Given the description of an element on the screen output the (x, y) to click on. 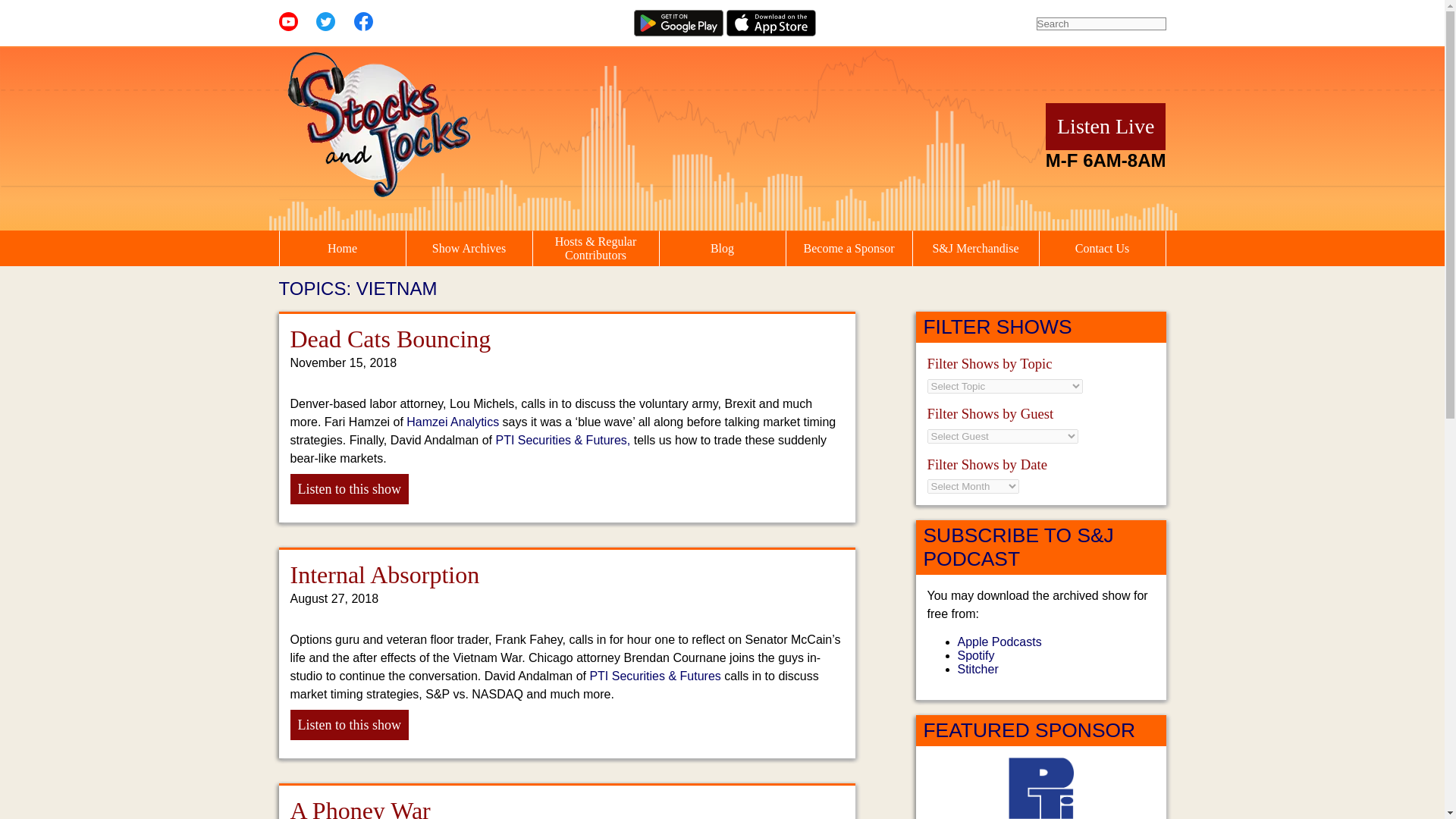
Listen Live (1105, 126)
Hamzei Analytics (452, 421)
A Phoney War (359, 807)
Listen to this show (349, 725)
Listen to this show (349, 489)
Blog (722, 248)
Become a Sponsor (848, 248)
Contact Us (1101, 248)
Show Archives (469, 248)
Dead Cats Bouncing (389, 338)
Home (341, 248)
Internal Absorption (384, 574)
